Given the description of an element on the screen output the (x, y) to click on. 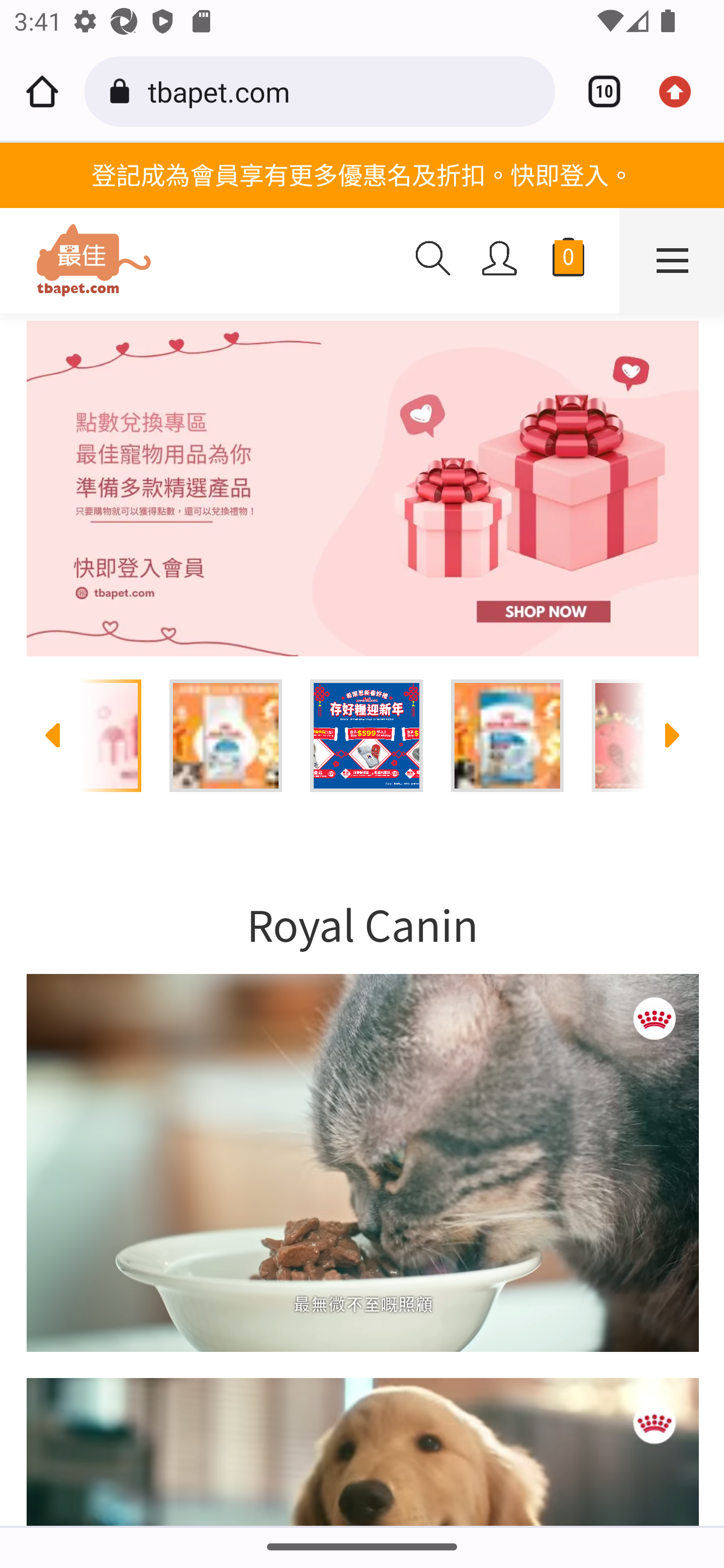
Home (42, 91)
Connection is secure (122, 91)
Switch or close tabs (597, 91)
Update available. More options (681, 91)
tbapet.com (343, 90)
登記成為會員享有更多優惠名及折扣。快即登入。 (362, 174)
450x (200, 260)
sign_in (499, 258)
0 (567, 260)
•  redeem_gift (362, 488)
